Given the description of an element on the screen output the (x, y) to click on. 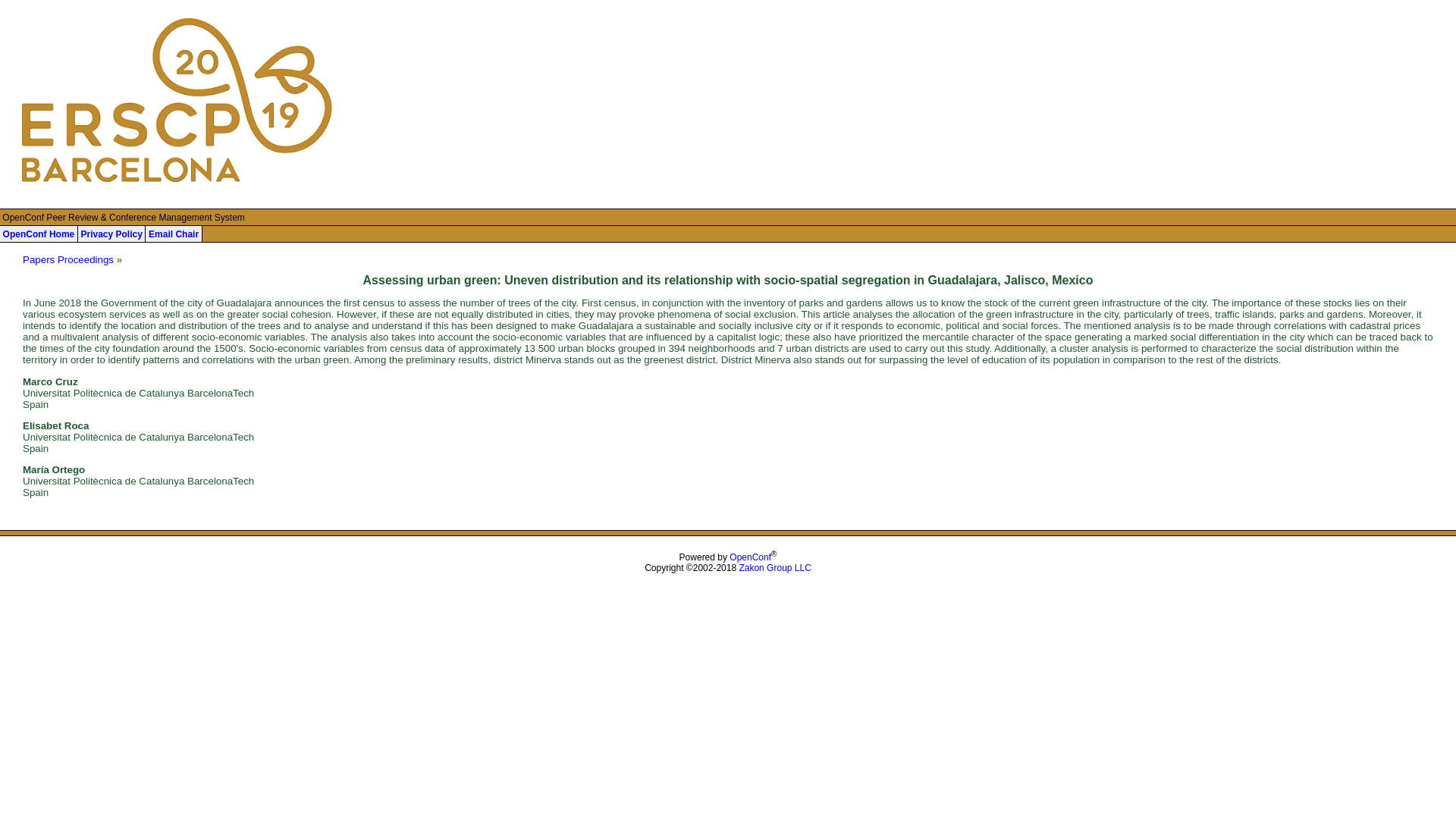
Email Chair (173, 234)
OpenConf (750, 557)
Privacy Policy (110, 234)
Papers Proceedings (68, 259)
OpenConf Home (38, 234)
